Given the description of an element on the screen output the (x, y) to click on. 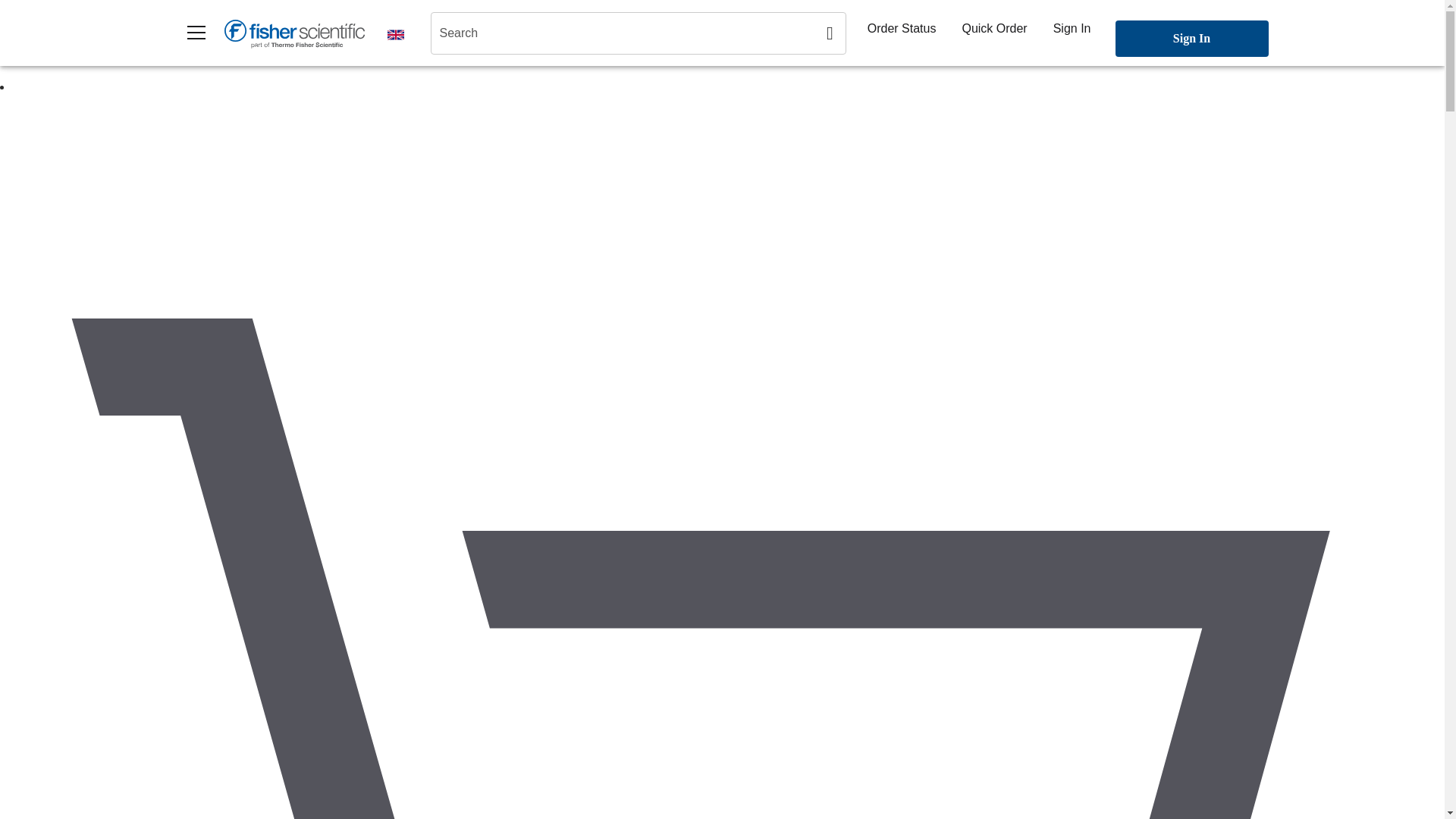
Quick Order (993, 28)
Sign In (1071, 28)
Sign In (1191, 38)
Order Status (901, 28)
